Given the description of an element on the screen output the (x, y) to click on. 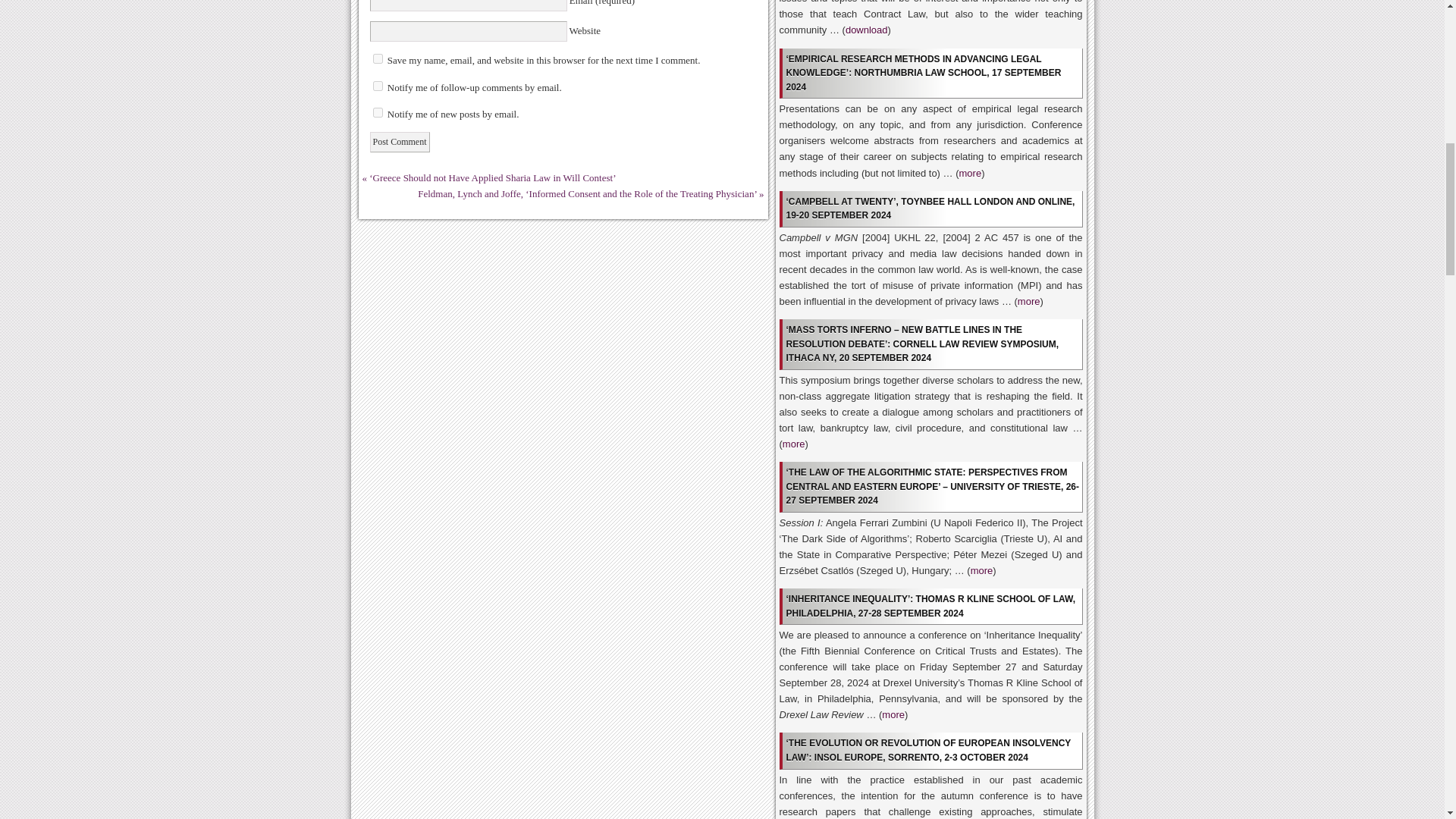
subscribe (377, 85)
subscribe (377, 112)
Post Comment (399, 141)
yes (377, 58)
